Given the description of an element on the screen output the (x, y) to click on. 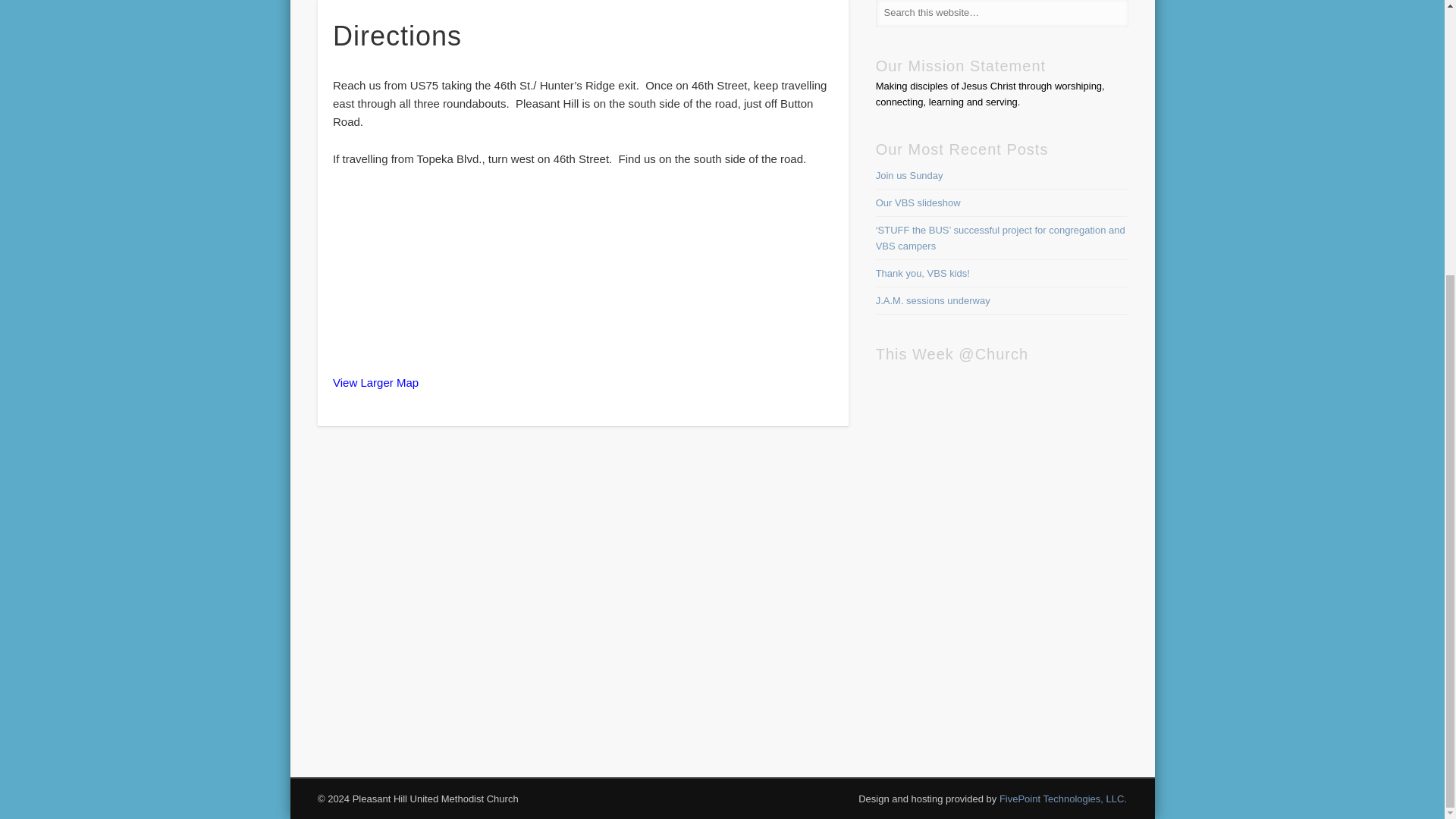
Our VBS slideshow (918, 202)
Thank you, VBS kids! (922, 273)
J.A.M. sessions underway (933, 300)
View Larger Map (376, 382)
Join us Sunday (909, 174)
FivePoint Technologies, LLC. (1062, 798)
